Given the description of an element on the screen output the (x, y) to click on. 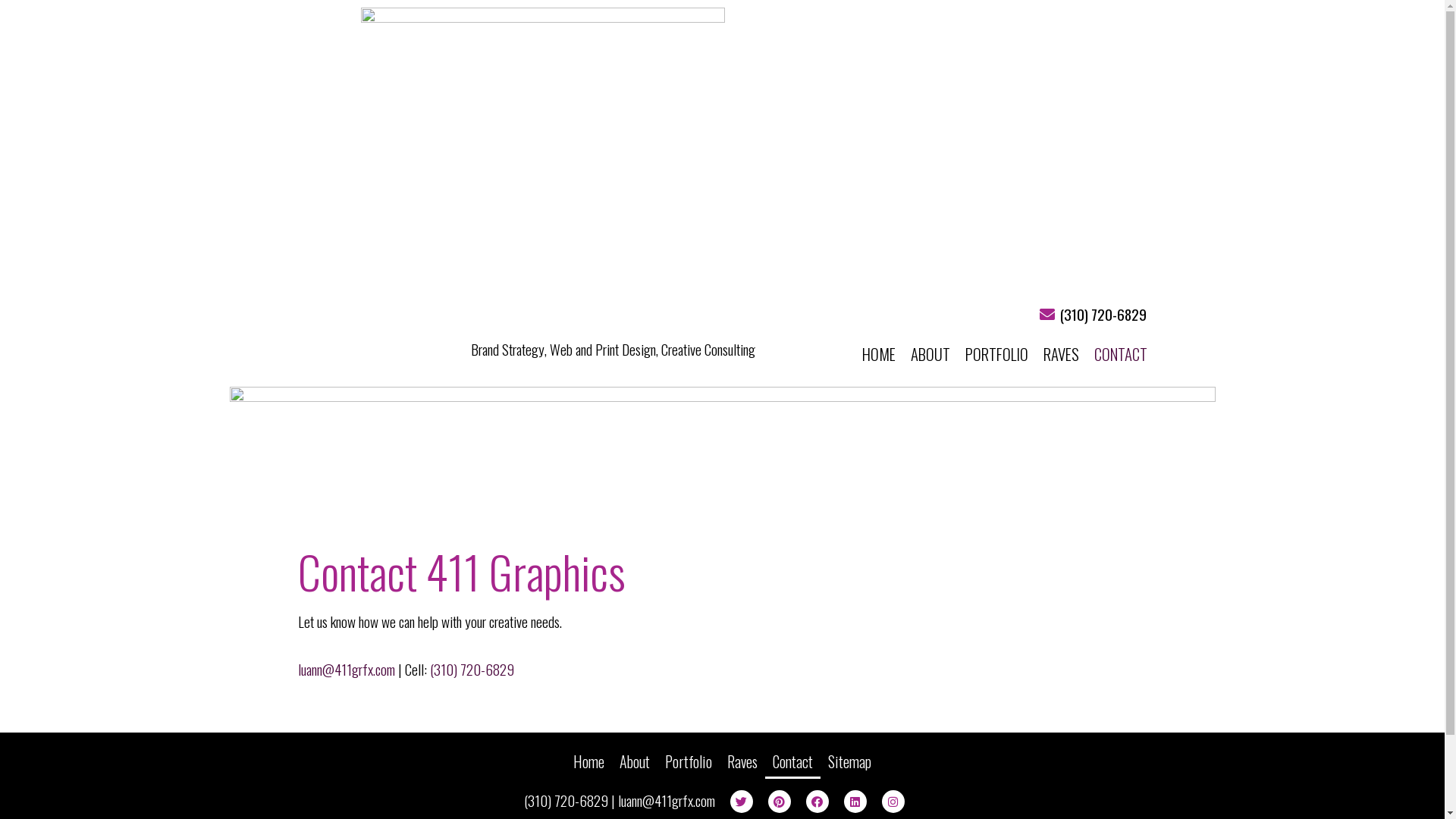
(310) 720-6829 Element type: text (1103, 314)
Portfolio Element type: text (688, 760)
RAVES Element type: text (1061, 353)
(310) 720-6829 Element type: text (471, 669)
About Element type: text (634, 760)
Home Element type: text (588, 760)
luann@411grfx.com Element type: text (665, 800)
CONTACT Element type: text (1119, 353)
HOME Element type: text (877, 353)
Sitemap Element type: text (849, 760)
(310) 720-6829 Element type: text (565, 800)
Raves Element type: text (742, 760)
PORTFOLIO Element type: text (995, 353)
luann@411grfx.com Element type: text (345, 669)
Contact Element type: text (792, 760)
ABOUT Element type: text (929, 353)
